Given the description of an element on the screen output the (x, y) to click on. 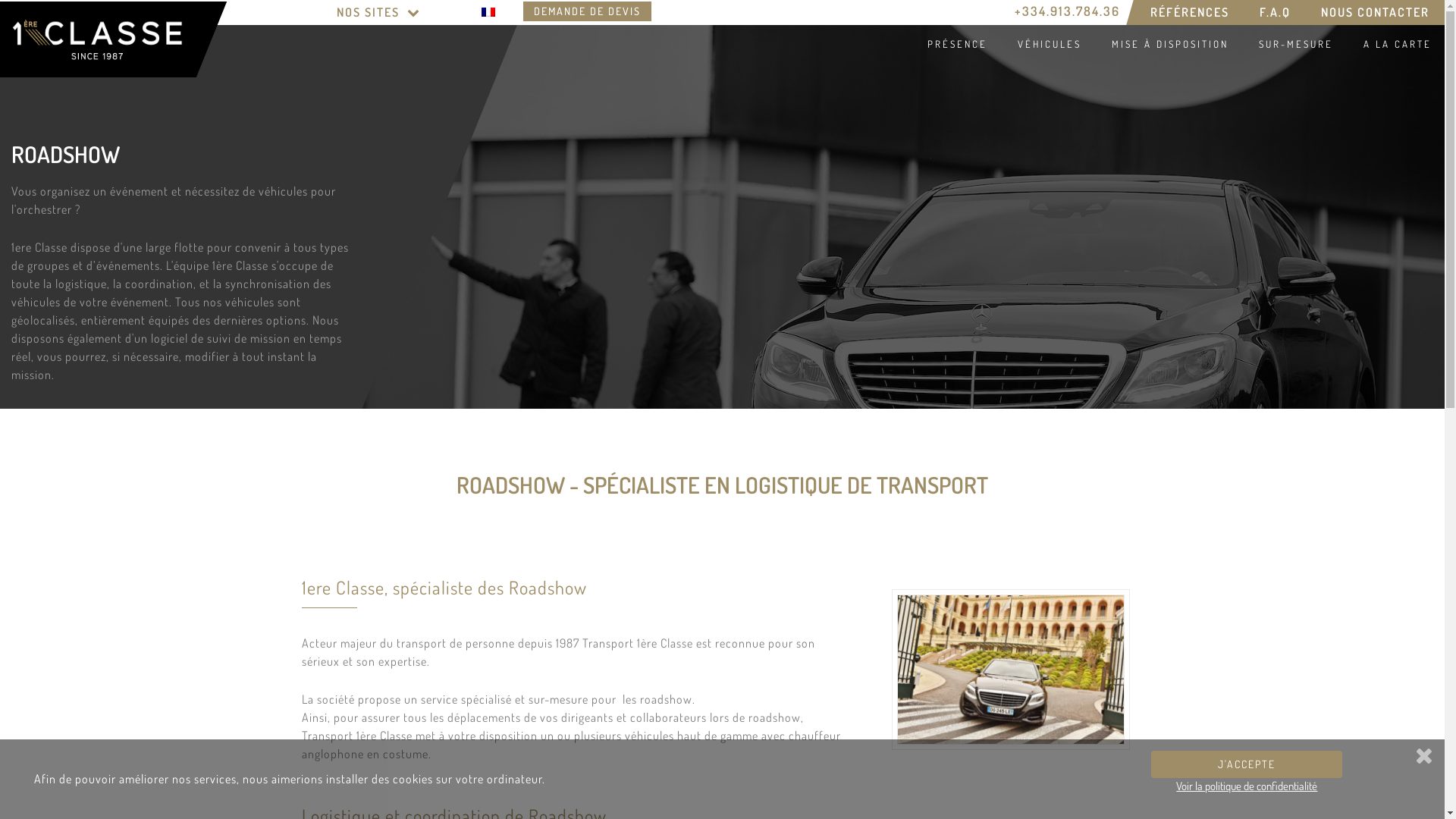
A LA CARTE Element type: text (1395, 43)
NOS SITES Element type: text (378, 12)
J'ACCEPTE Element type: text (1246, 764)
SUR-MESURE Element type: text (1293, 43)
F.A.Q Element type: text (1274, 12)
NOUS CONTACTER Element type: text (1374, 12)
+334.913.784.36 Element type: text (1067, 11)
DEMANDE DE DEVIS Element type: text (587, 11)
